Given the description of an element on the screen output the (x, y) to click on. 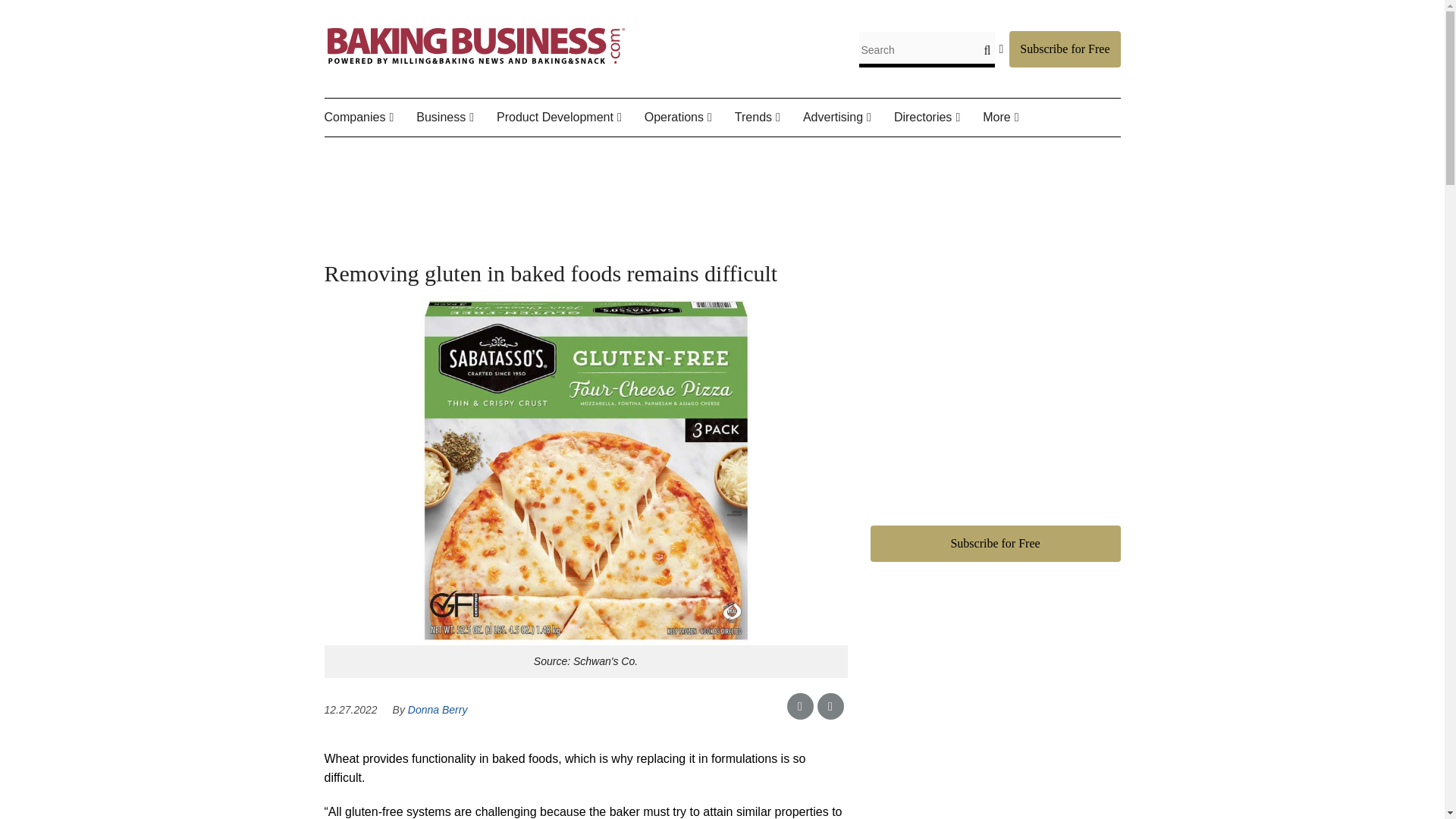
Financial Performance (500, 163)
Patents (589, 153)
New Products (583, 153)
Mergers and Acquisitions (518, 163)
Baking Business (475, 64)
Suppliers (427, 153)
Subscribe for Free (1064, 49)
Market Insights (509, 153)
International (515, 153)
Food Safety and Sanitation (734, 163)
